Given the description of an element on the screen output the (x, y) to click on. 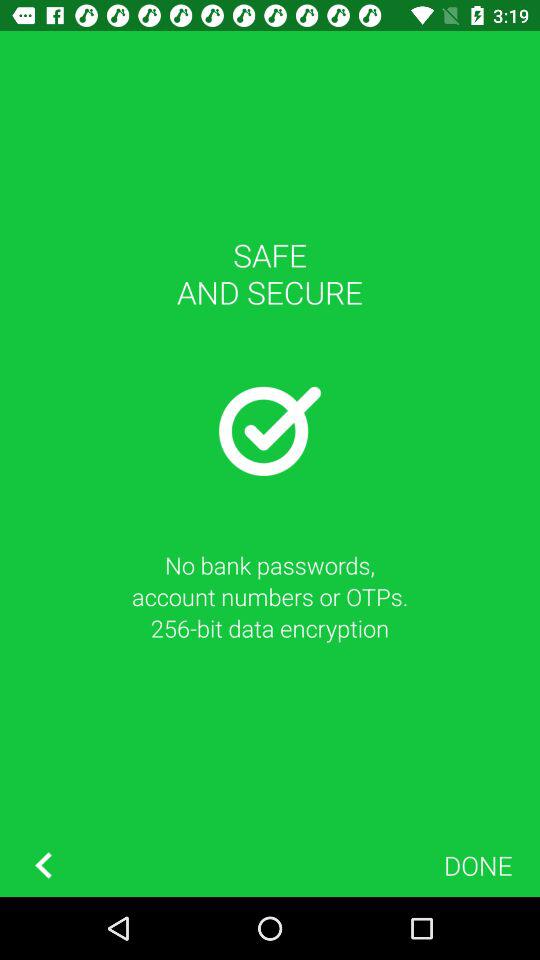
turn on icon below no bank passwords item (43, 864)
